Given the description of an element on the screen output the (x, y) to click on. 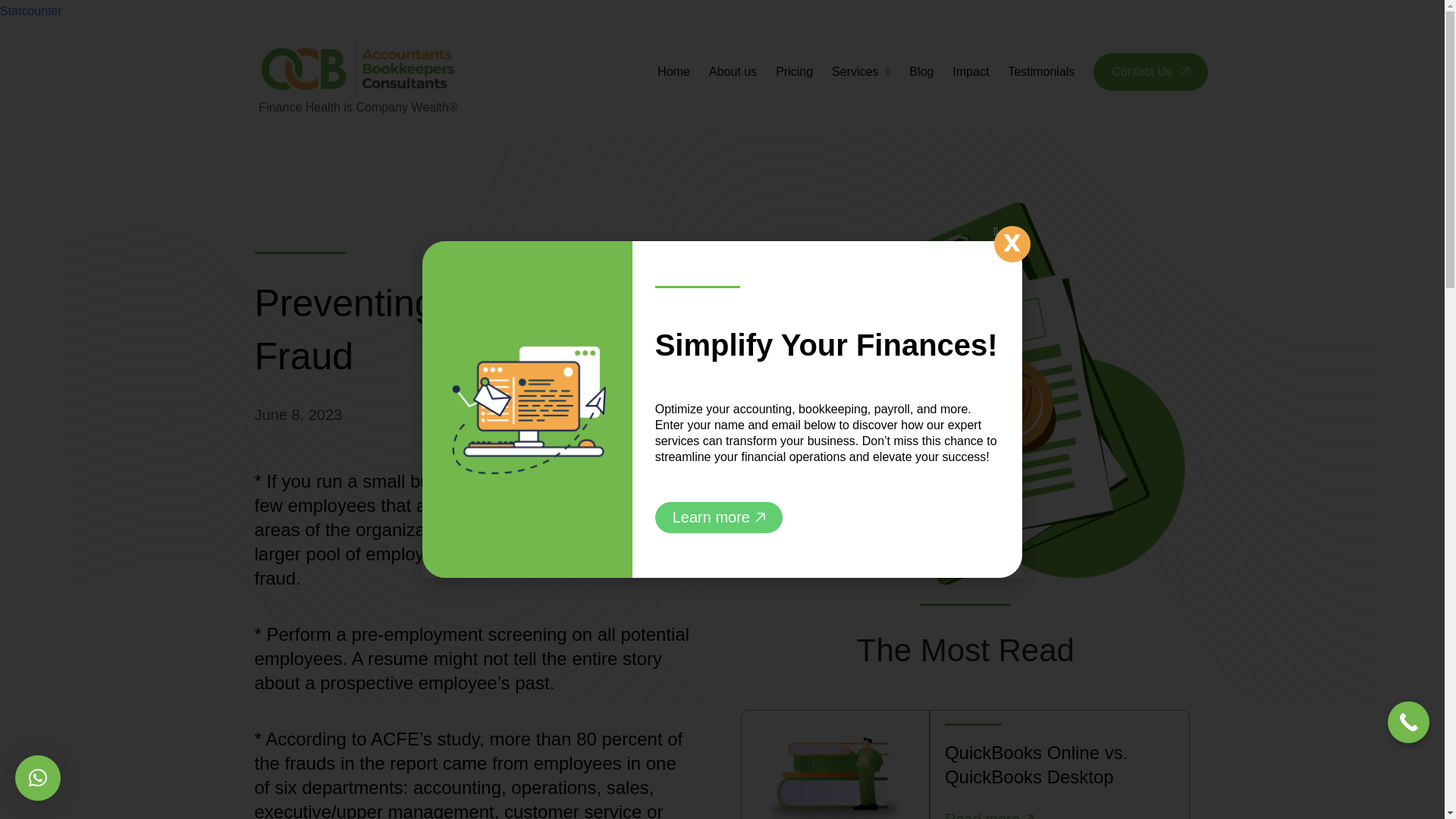
Pricing (794, 71)
Impact (970, 71)
Services (860, 71)
Read more (988, 811)
Statcounter (31, 10)
Testimonials (1040, 71)
About us (733, 71)
Contact Us (1150, 71)
